Given the description of an element on the screen output the (x, y) to click on. 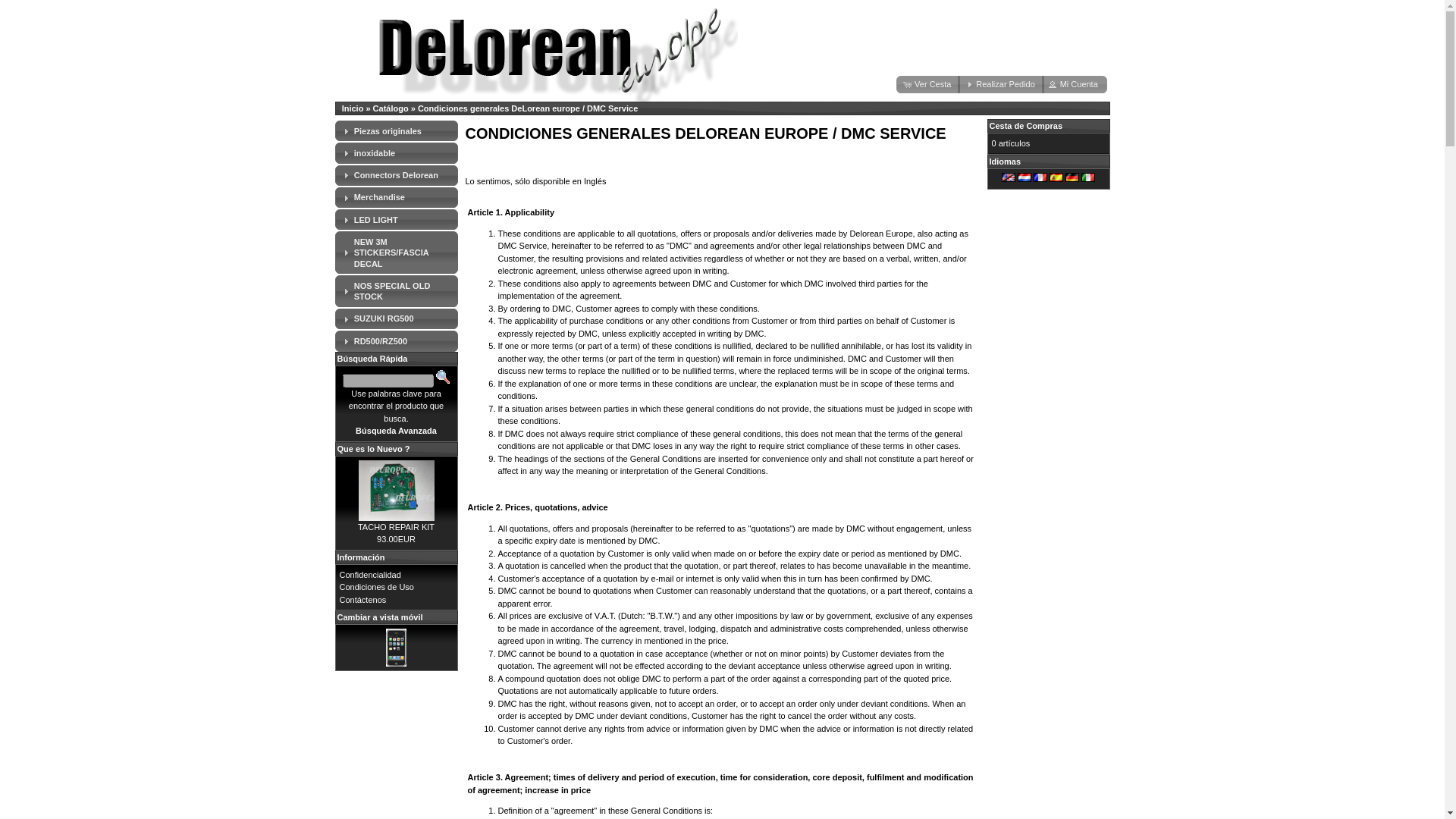
SUZUKI RG500 (383, 317)
Merchandise (378, 196)
TACHO REPAIR KIT (395, 490)
LED LIGHT (375, 219)
English (1007, 176)
Confidencialidad (370, 574)
Connectors Delorean (395, 174)
Inicio (353, 108)
Mi Cuenta (1074, 84)
Realizar Pedido (1000, 84)
Ver Cesta (927, 84)
Piezas originales (387, 130)
Que es lo Nuevo ? (372, 448)
DeLorean Europe (536, 54)
TACHO REPAIR KIT (395, 526)
